Given the description of an element on the screen output the (x, y) to click on. 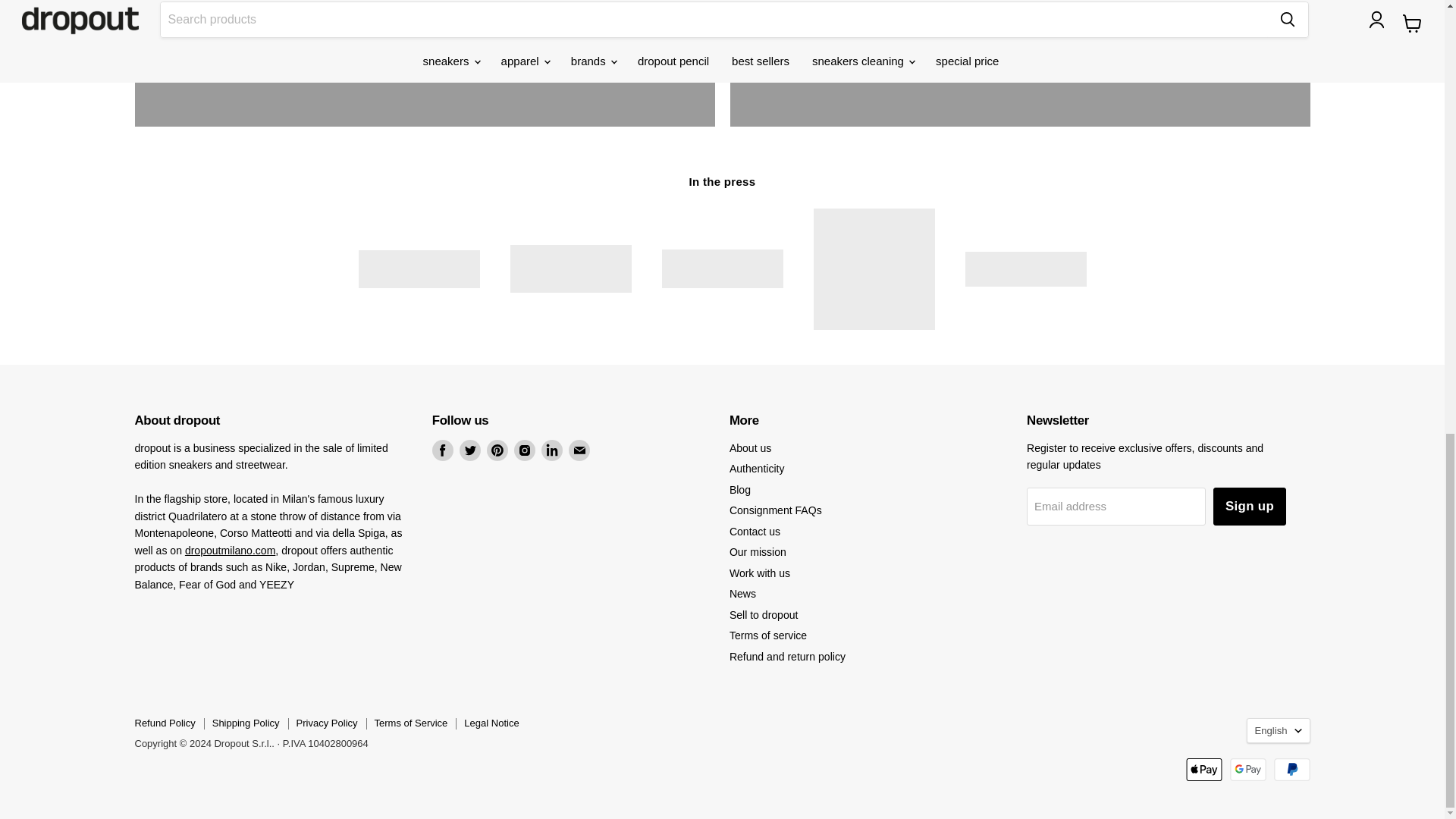
Facebook (442, 450)
Instagram (524, 450)
LinkedIn (551, 450)
Email (579, 450)
Twitter (470, 450)
Pinterest (497, 450)
